Given the description of an element on the screen output the (x, y) to click on. 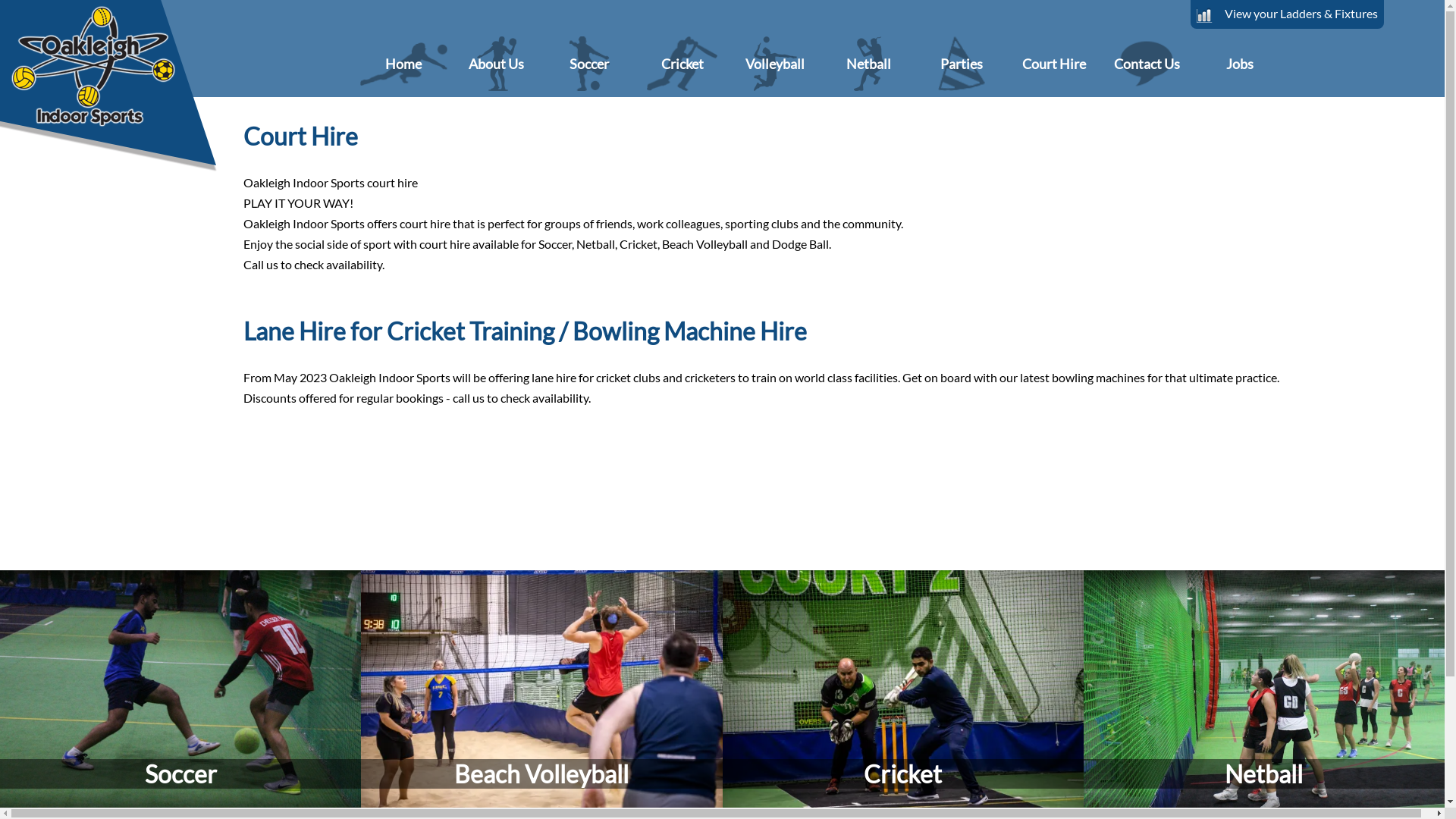
Soccer Element type: text (180, 691)
Volleyball Element type: text (775, 63)
Contact Us Element type: text (1146, 63)
About Us Element type: text (495, 63)
Soccer Element type: text (589, 63)
Cricket Element type: text (901, 691)
Cricket Element type: text (681, 63)
View your Ladders & Fixtures Element type: text (1286, 13)
Beach Volleyball Element type: text (540, 691)
Home Element type: text (403, 63)
Court Hire Element type: text (1054, 63)
Oakleigh Indoor Sports Element type: hover (116, 89)
Netball Element type: text (868, 63)
Parties Element type: text (960, 63)
Netball Element type: text (1263, 691)
Jobs Element type: text (1239, 63)
Oakleigh Indoor Sports Element type: hover (114, 89)
